Given the description of an element on the screen output the (x, y) to click on. 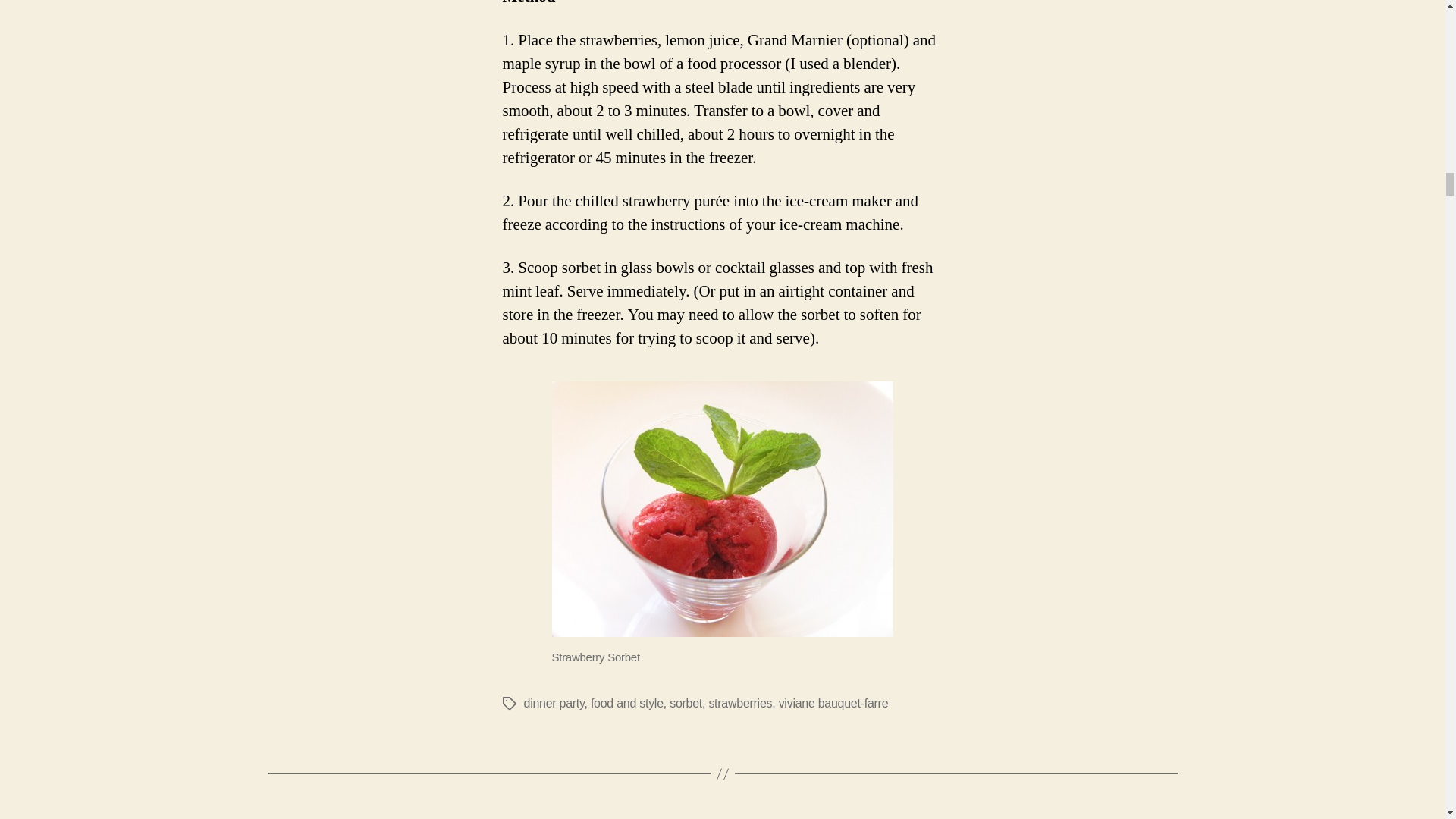
P4235211 (722, 509)
